Given the description of an element on the screen output the (x, y) to click on. 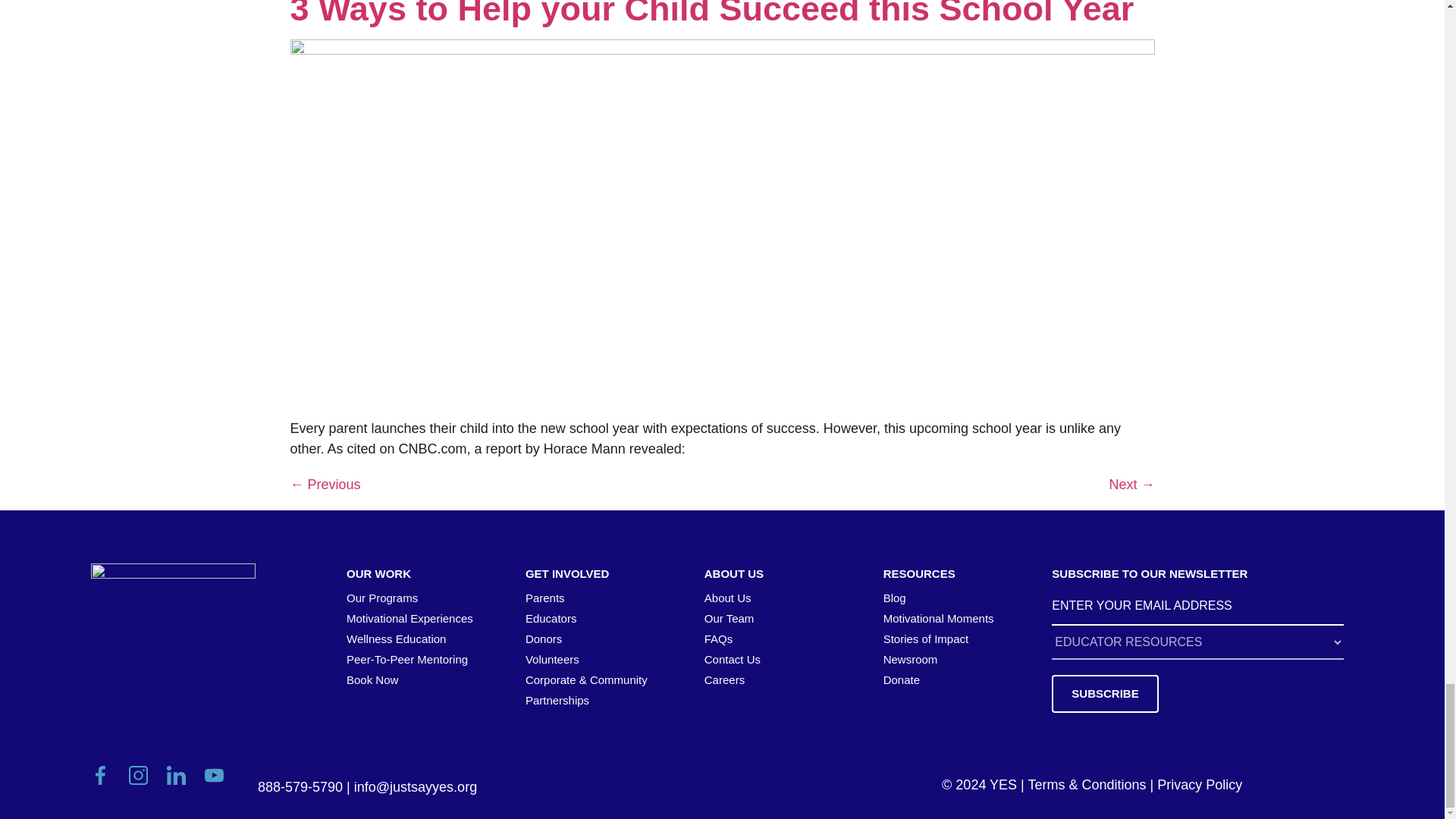
Subscribe (1104, 693)
